Given the description of an element on the screen output the (x, y) to click on. 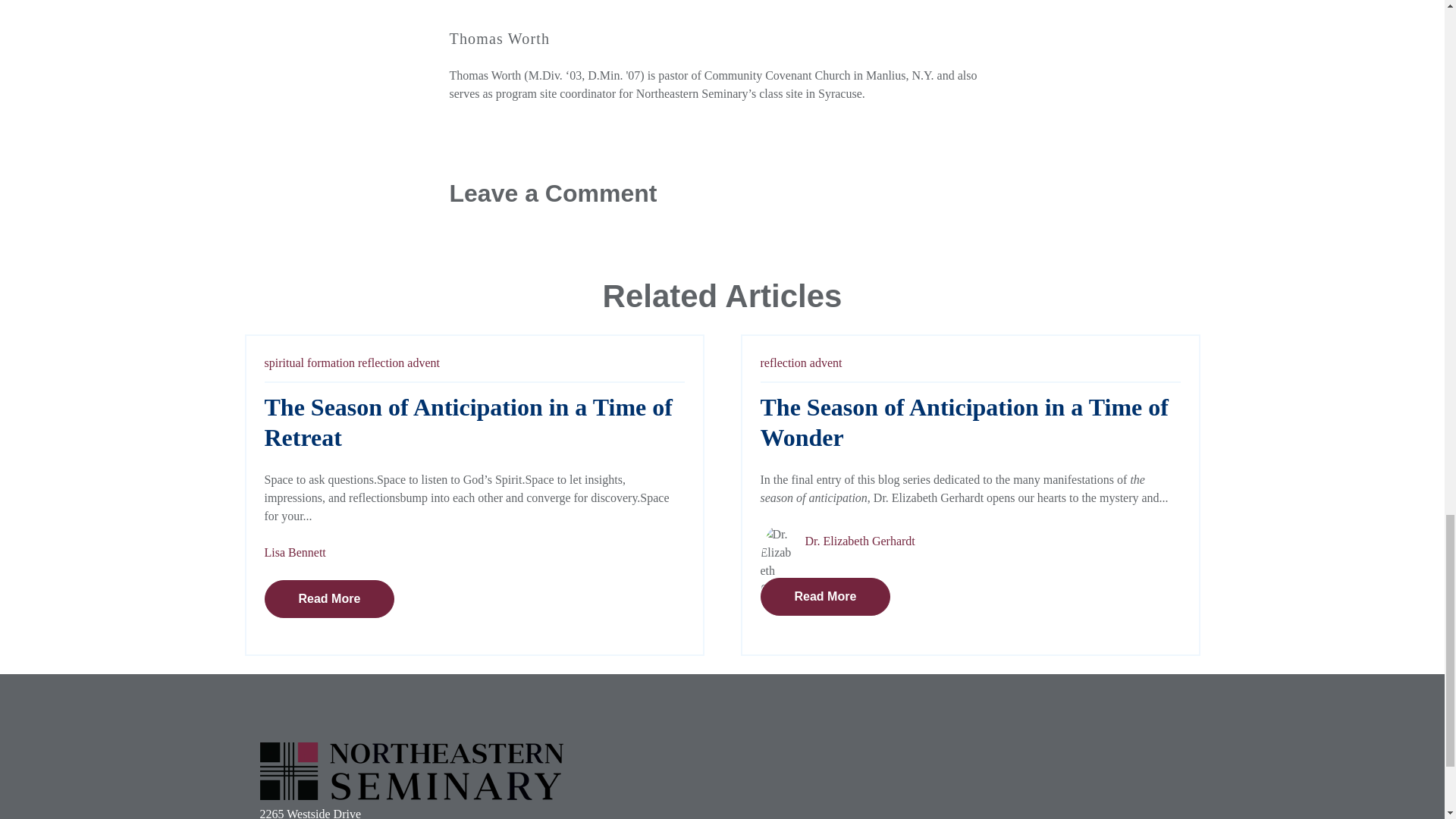
NES Logo NEW-Horizontal (410, 771)
reflection (783, 362)
Read More (328, 598)
reflection (381, 362)
advent (423, 362)
The Season of Anticipation in a Time of Wonder (963, 422)
advent (826, 362)
spiritual formation (309, 362)
The Season of Anticipation in a Time of Retreat (467, 422)
Lisa Bennett (293, 552)
Dr. Elizabeth Gerhardt (860, 541)
Read More (824, 596)
